Given the description of an element on the screen output the (x, y) to click on. 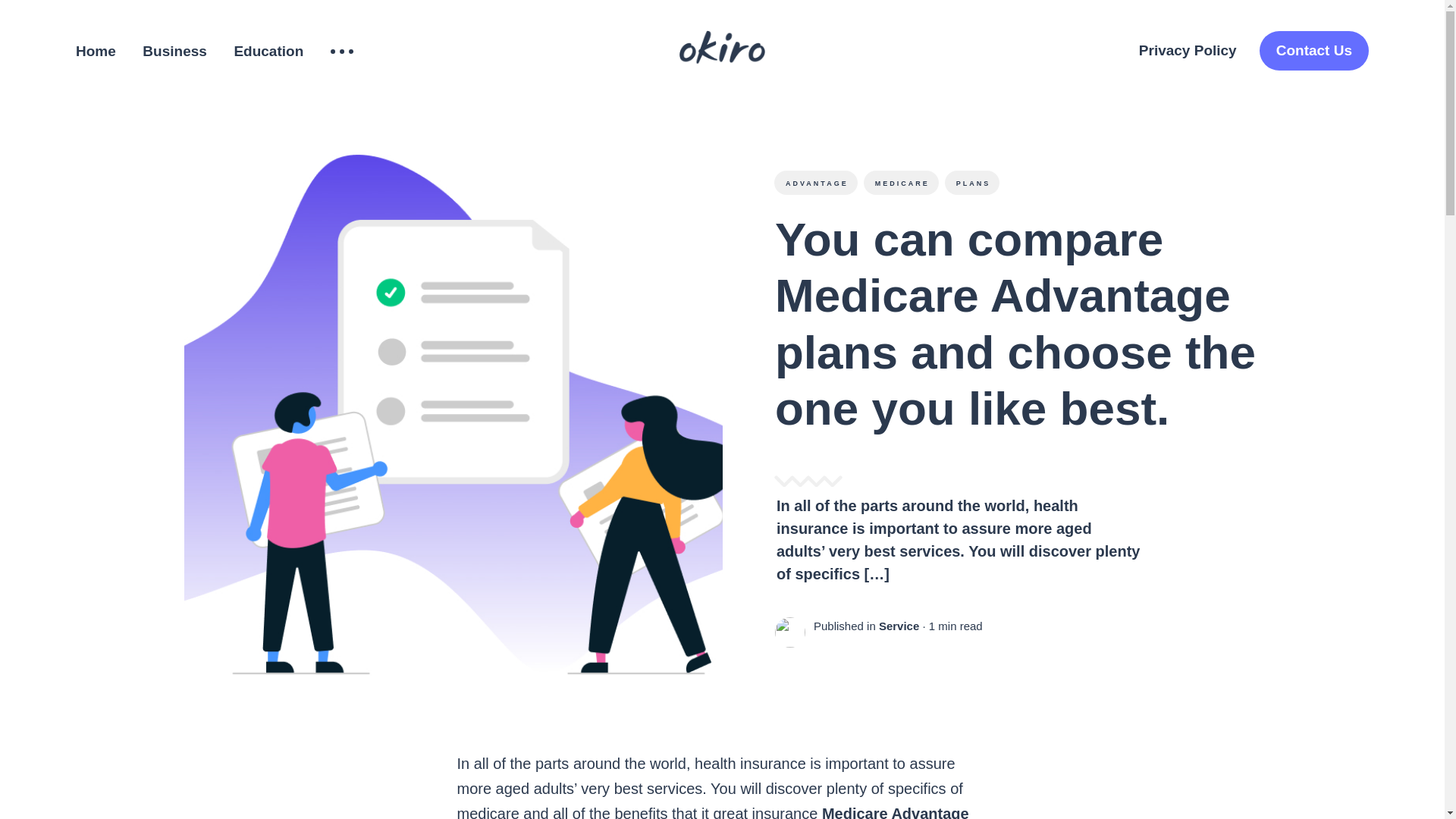
Privacy Policy (1187, 51)
Business (174, 51)
Service (897, 626)
Education (267, 51)
Contact Us (1313, 51)
MEDICARE (900, 182)
Medicare Advantage plans 2023 (712, 812)
PLANS (970, 182)
ADVANTAGE (815, 182)
Home (95, 51)
